Given the description of an element on the screen output the (x, y) to click on. 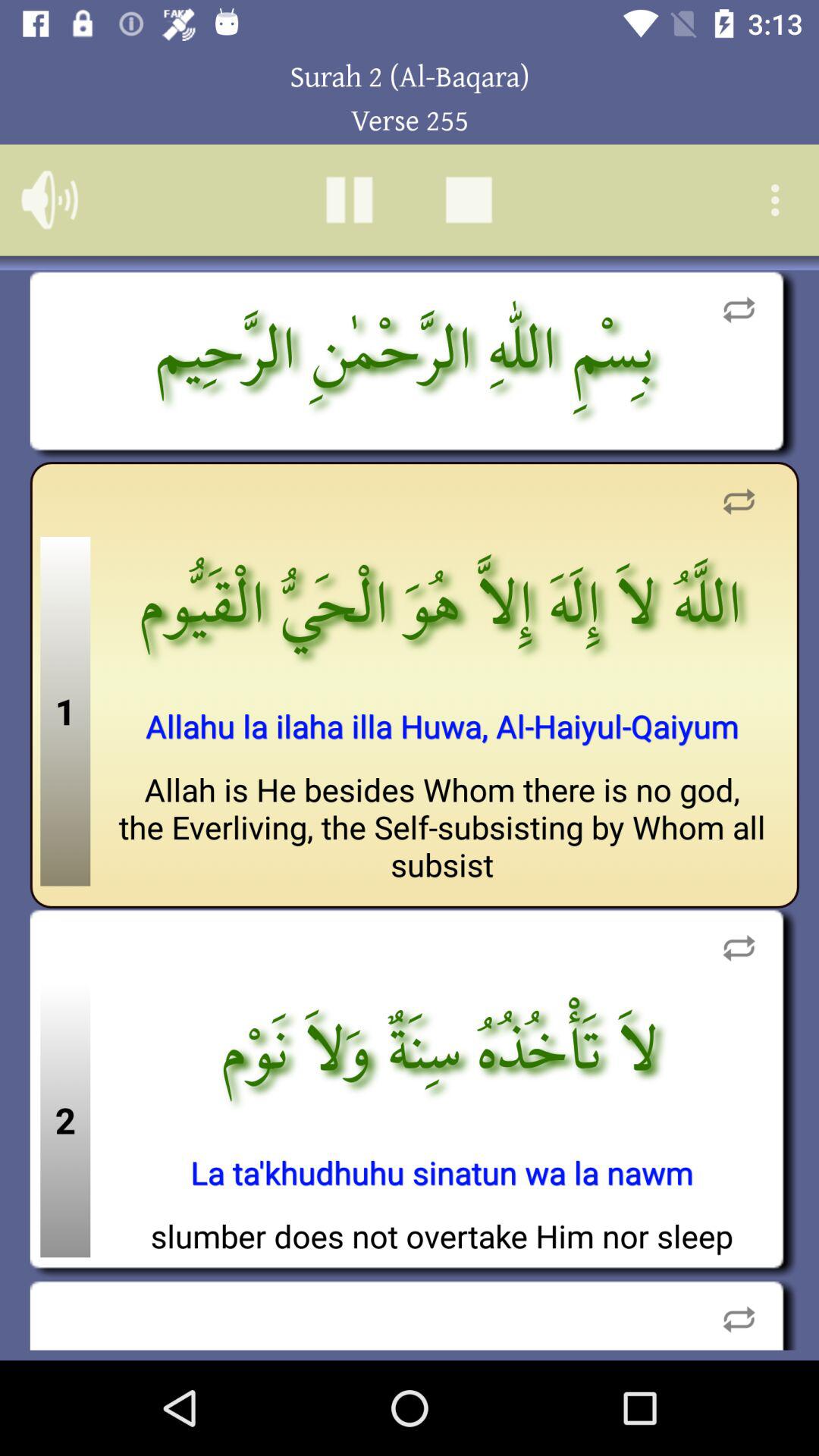
open the item below surah 2 al icon (349, 199)
